Given the description of an element on the screen output the (x, y) to click on. 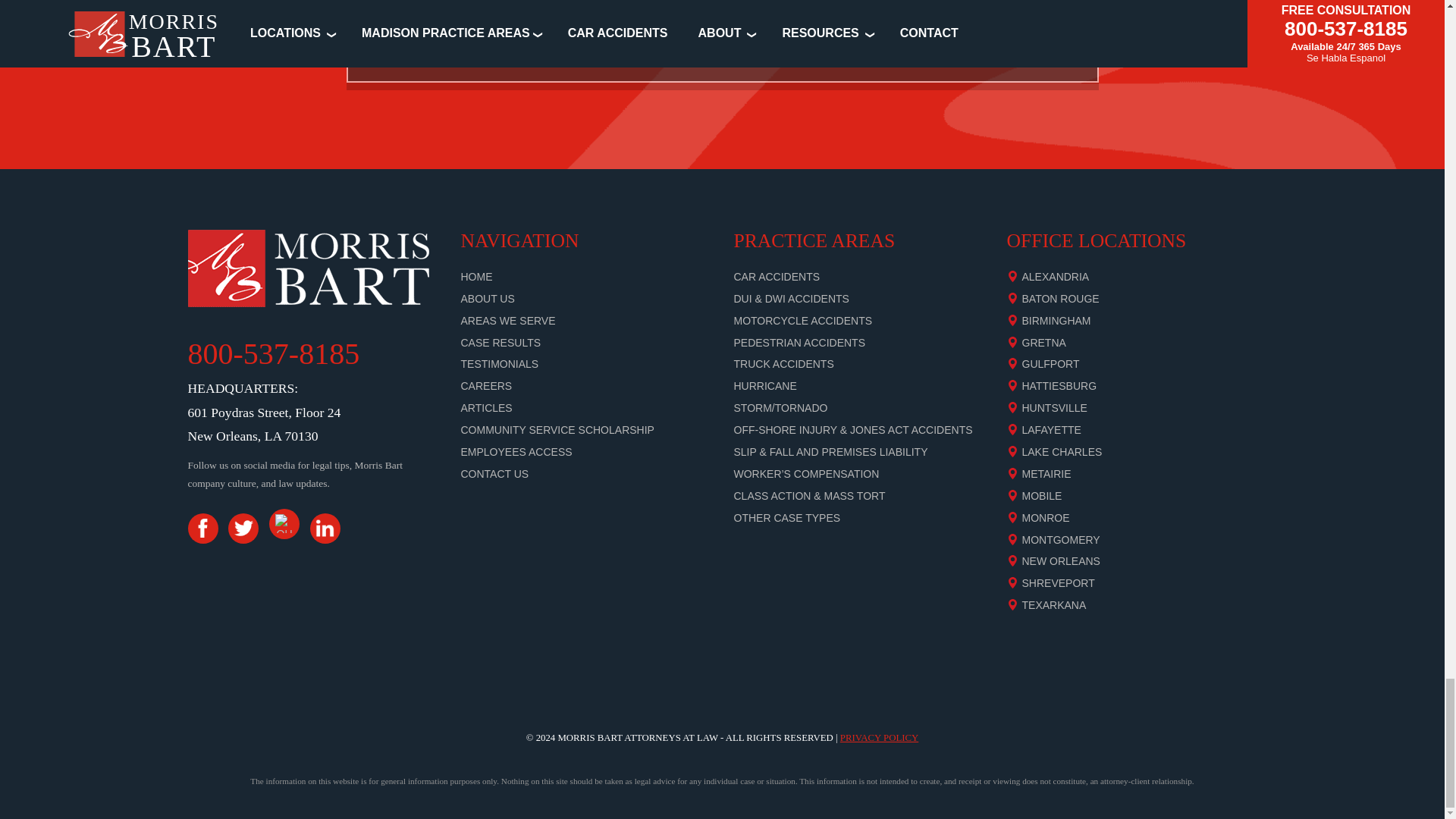
Testimonials (499, 363)
Articles (486, 408)
Areas We Serve (508, 320)
Yes! Please Evaluate My Case For Free! (721, 61)
About us (488, 298)
Careers (486, 386)
Case results (501, 342)
